Given the description of an element on the screen output the (x, y) to click on. 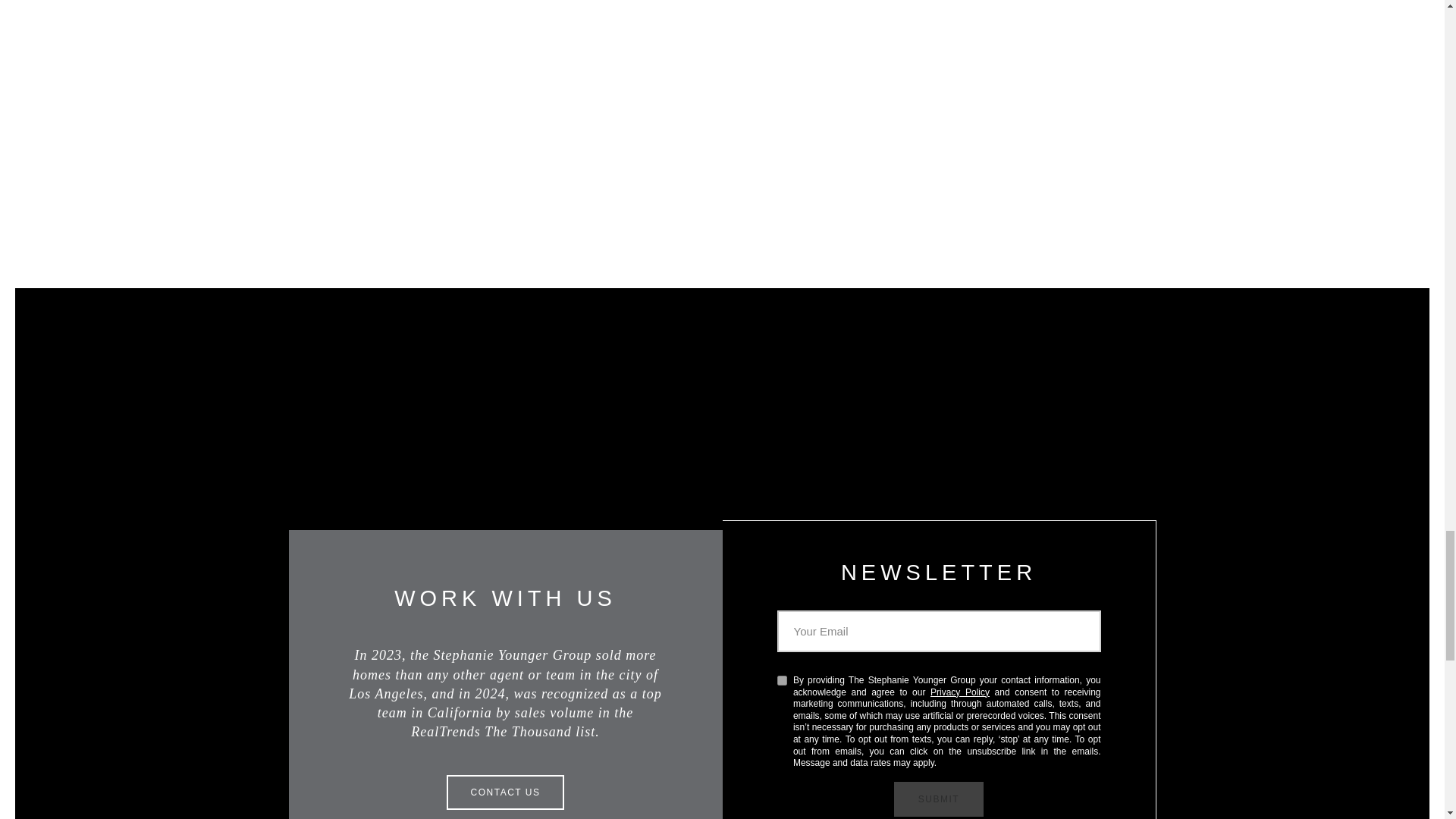
on (781, 680)
